Given the description of an element on the screen output the (x, y) to click on. 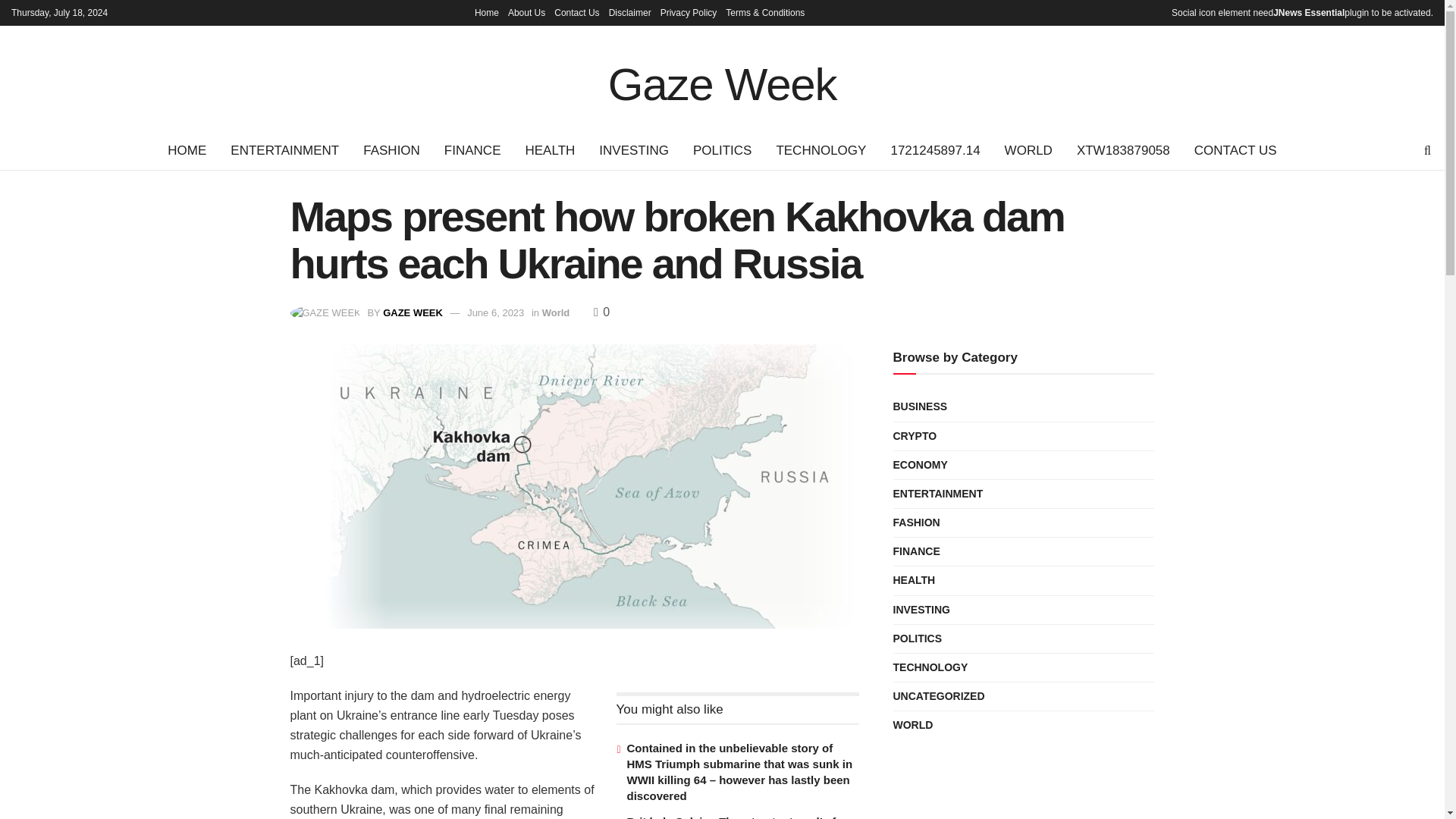
WORLD (1028, 150)
XTW183879058 (1123, 150)
TECHNOLOGY (819, 150)
Privacy Policy (689, 12)
About Us (526, 12)
1721245897.14 (934, 150)
HEALTH (549, 150)
CONTACT US (1235, 150)
FINANCE (472, 150)
Gaze Week (722, 78)
INVESTING (633, 150)
Contact Us (576, 12)
HOME (186, 150)
POLITICS (721, 150)
FASHION (391, 150)
